Given the description of an element on the screen output the (x, y) to click on. 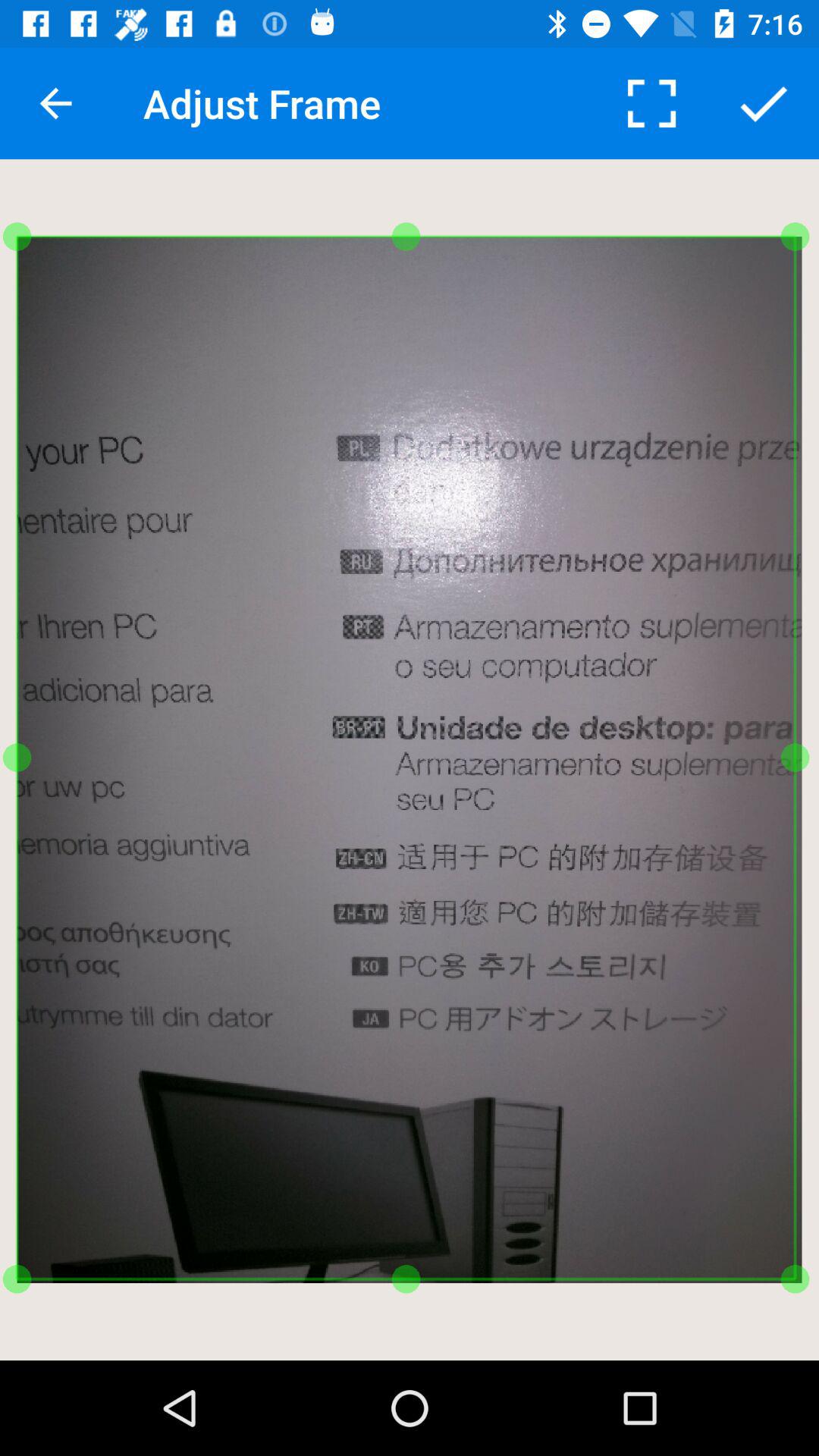
turn off the icon next to adjust frame (651, 103)
